Given the description of an element on the screen output the (x, y) to click on. 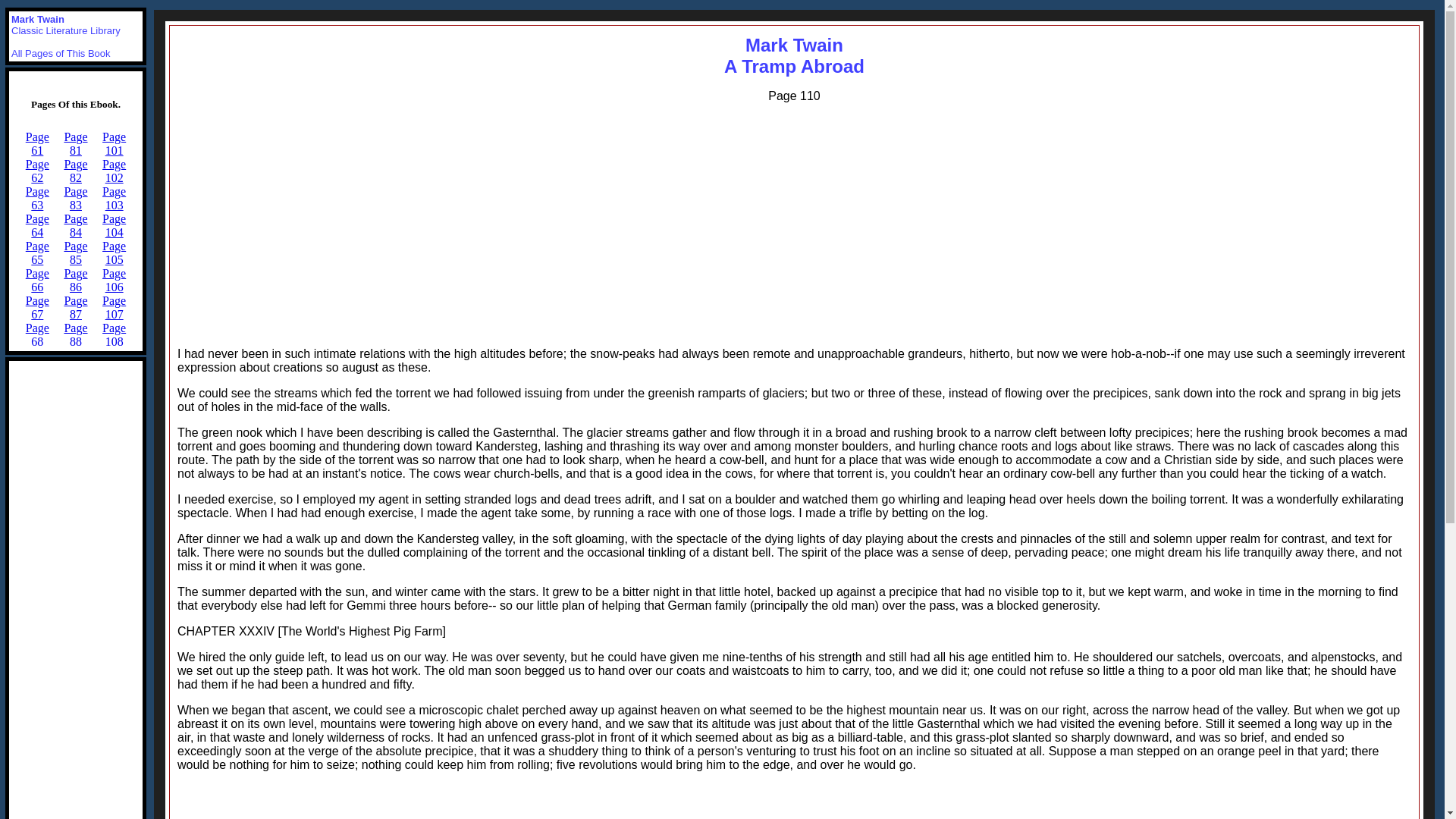
Mark Twain (37, 19)
Advertisement (794, 801)
Classic Literature Library (793, 55)
All Pages of This Book (65, 30)
